Given the description of an element on the screen output the (x, y) to click on. 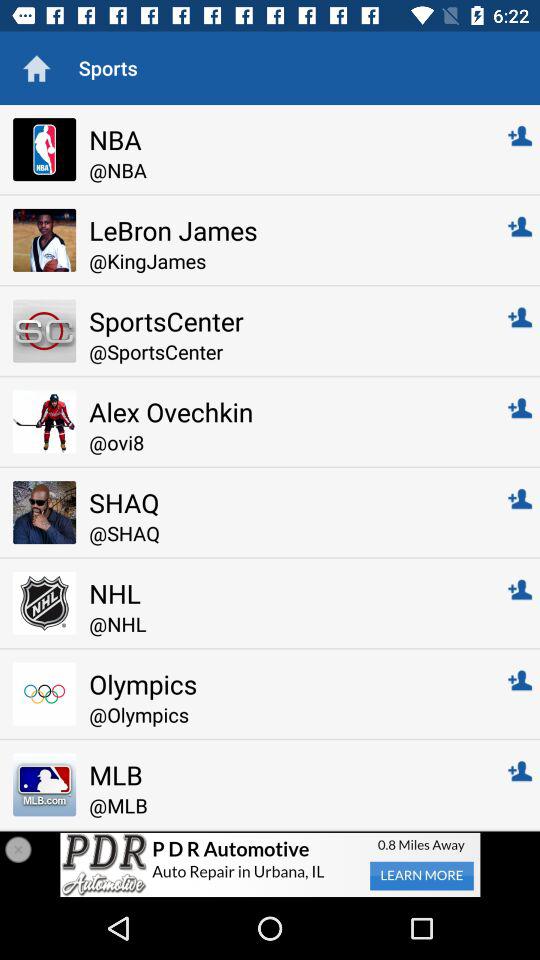
choose the alex ovechkin item (284, 411)
